Given the description of an element on the screen output the (x, y) to click on. 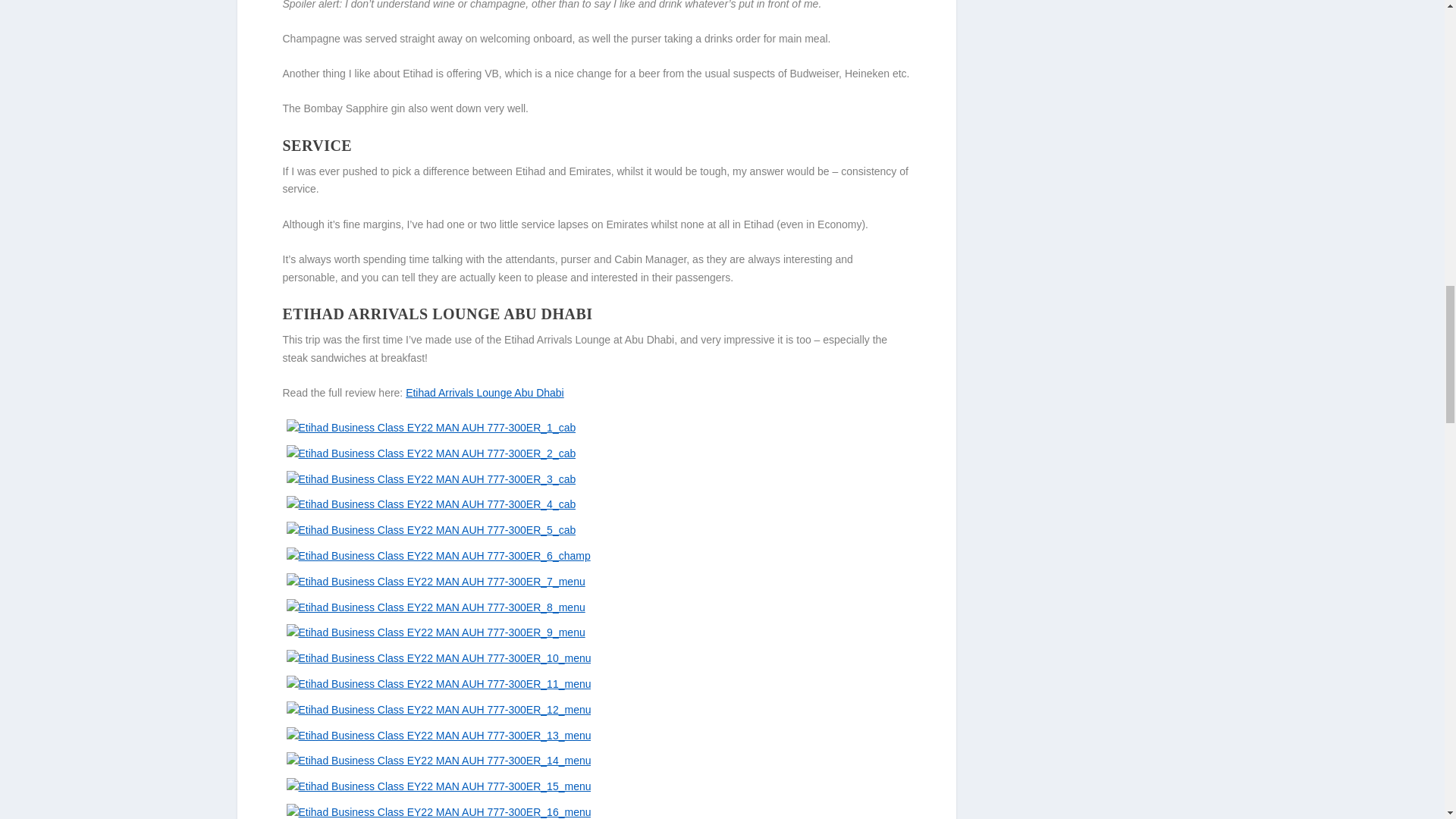
Etihad Arrivals Lounge Abu Dhabi (485, 392)
